Given the description of an element on the screen output the (x, y) to click on. 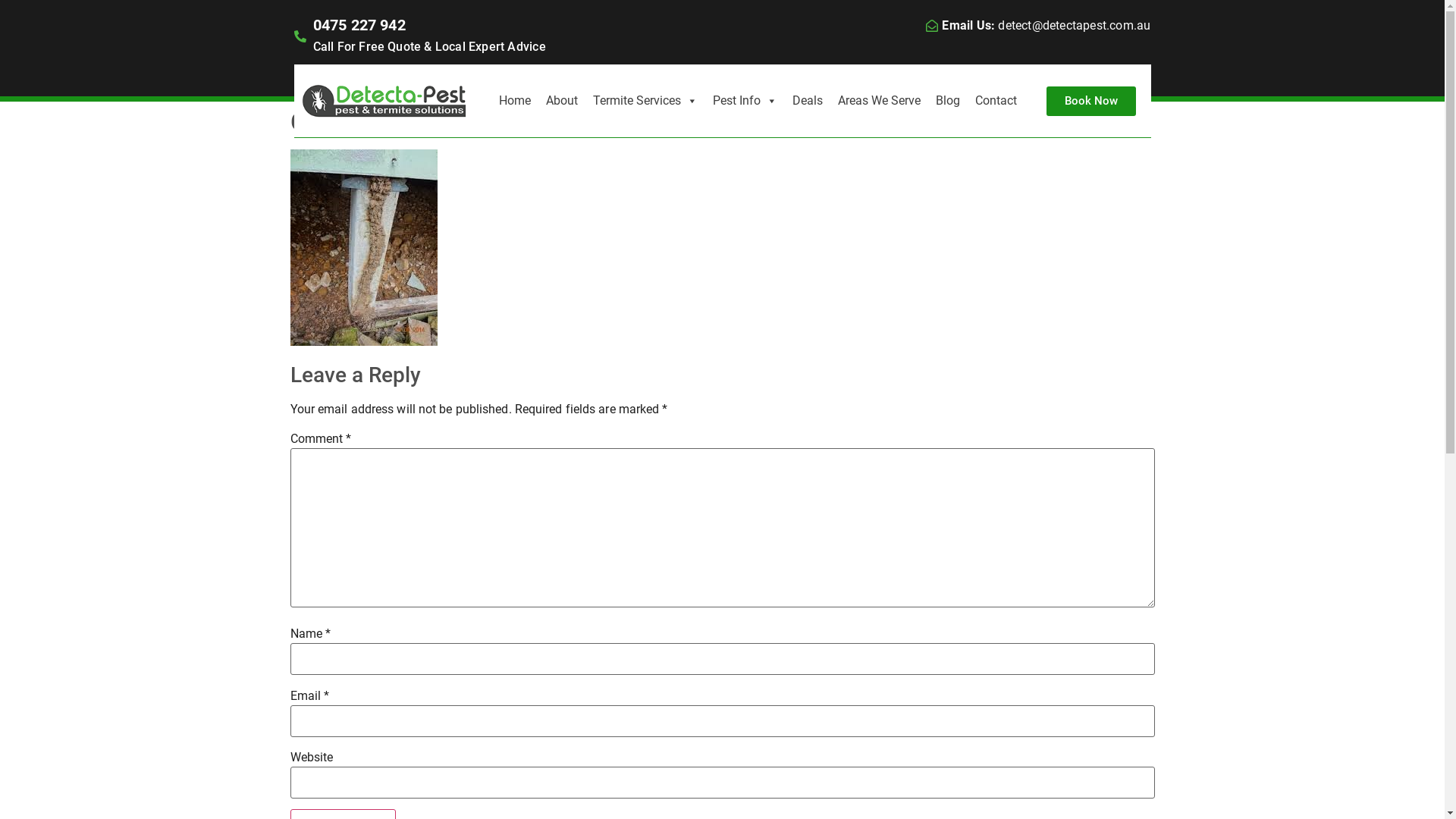
Blog Element type: text (947, 100)
Book Now Element type: text (1090, 101)
Termite Services Element type: text (645, 100)
Home Element type: text (514, 100)
Pest Info Element type: text (744, 100)
Deals Element type: text (807, 100)
Areas We Serve Element type: text (879, 100)
About Element type: text (561, 100)
Contact Element type: text (995, 100)
0475 227 942
Call For Free Quote & Local Expert Advice Element type: text (508, 35)
